Given the description of an element on the screen output the (x, y) to click on. 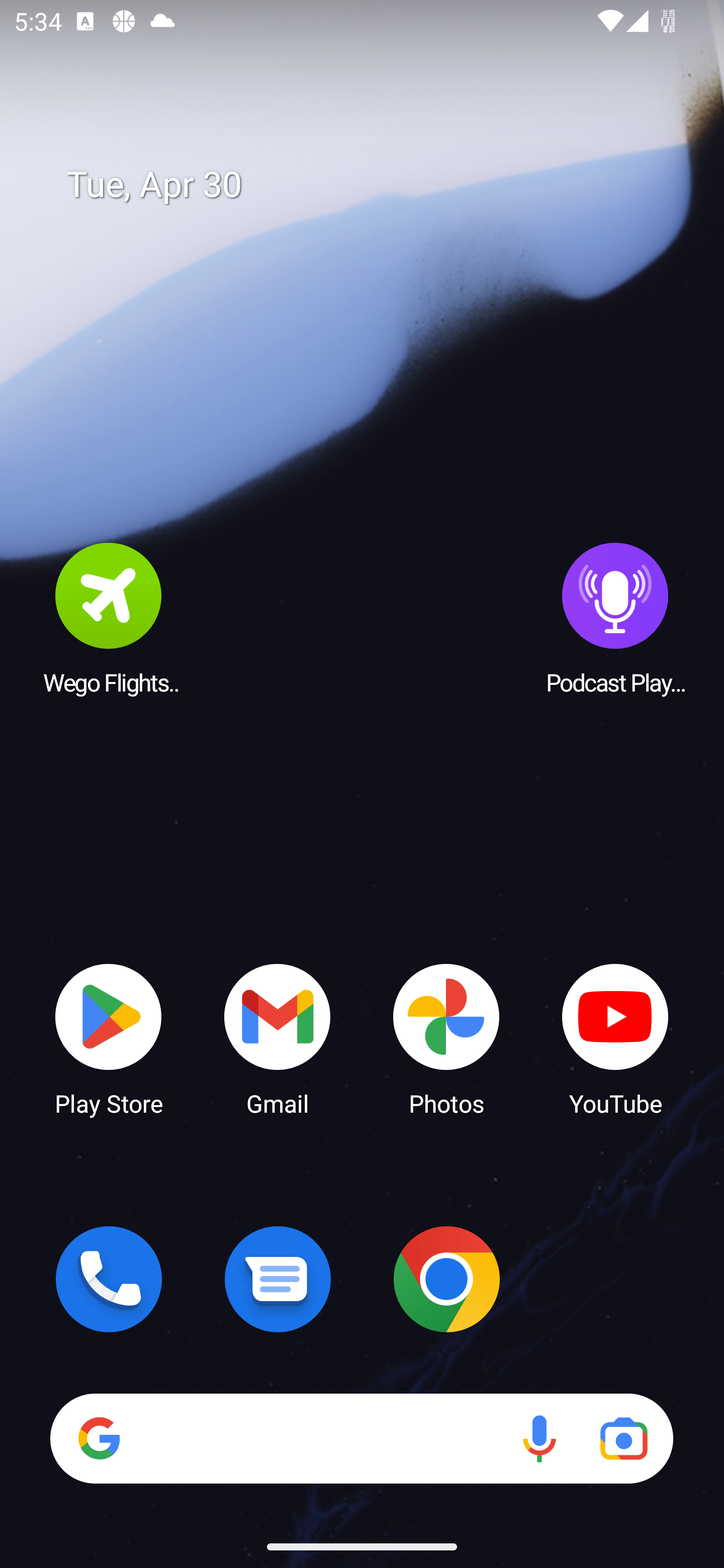
Tue, Apr 30 (375, 184)
Wego Flights & Hotels (108, 617)
Podcast Player (615, 617)
Play Store (108, 1038)
Gmail (277, 1038)
Photos (445, 1038)
YouTube (615, 1038)
Phone (108, 1279)
Messages (277, 1279)
Chrome (446, 1279)
Voice search (539, 1438)
Google Lens (623, 1438)
